Given the description of an element on the screen output the (x, y) to click on. 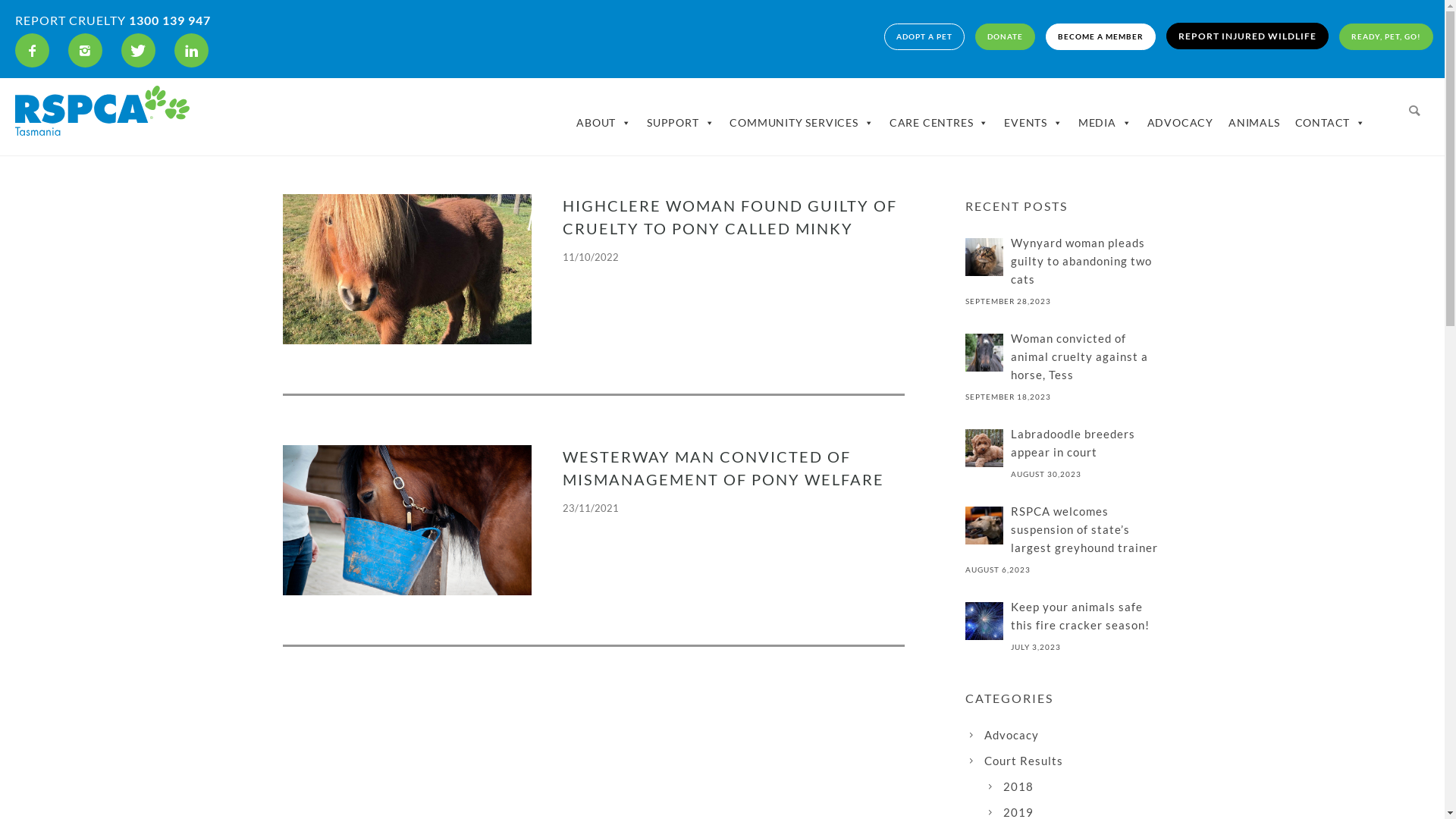
Woman convicted of animal cruelty against a horse, Tess Element type: hover (983, 352)
Wynyard woman pleads guilty to abandoning two cats Element type: hover (983, 257)
Labradoodle breeders appear in court Element type: text (1062, 442)
ABOUT Element type: text (603, 122)
Advocacy Element type: text (1011, 734)
Woman convicted of animal cruelty against a horse, Tess Element type: text (1062, 356)
COMMUNITY SERVICES Element type: text (801, 122)
CONTACT Element type: text (1330, 122)
ADOPT A PET Element type: text (924, 36)
Wynyard woman pleads guilty to abandoning two cats Element type: text (1062, 260)
READY, PET, GO! Element type: text (1386, 36)
2018 Element type: text (1017, 786)
Keep your animals safe this fire cracker season! Element type: text (1062, 615)
1300 139 947 Element type: text (169, 19)
REPORT INJURED WILDLIFE Element type: text (1247, 35)
ANIMALS Element type: text (1253, 122)
HIGHCLERE WOMAN FOUND GUILTY OF CRUELTY TO PONY CALLED MINKY Element type: text (733, 216)
Labradoodle breeders appear in court Element type: hover (983, 448)
EVENTS Element type: text (1033, 122)
DONATE Element type: text (1005, 36)
SUPPORT Element type: text (680, 122)
Keep your animals safe this fire cracker season! Element type: hover (983, 621)
WESTERWAY MAN CONVICTED OF MISMANAGEMENT OF PONY WELFARE Element type: text (733, 467)
ADVOCACY Element type: text (1179, 122)
Court Results Element type: text (1023, 760)
MEDIA Element type: text (1104, 122)
CARE CENTRES Element type: text (938, 122)
Home Element type: text (1081, 35)
BECOME A MEMBER Element type: text (1100, 36)
